Given the description of an element on the screen output the (x, y) to click on. 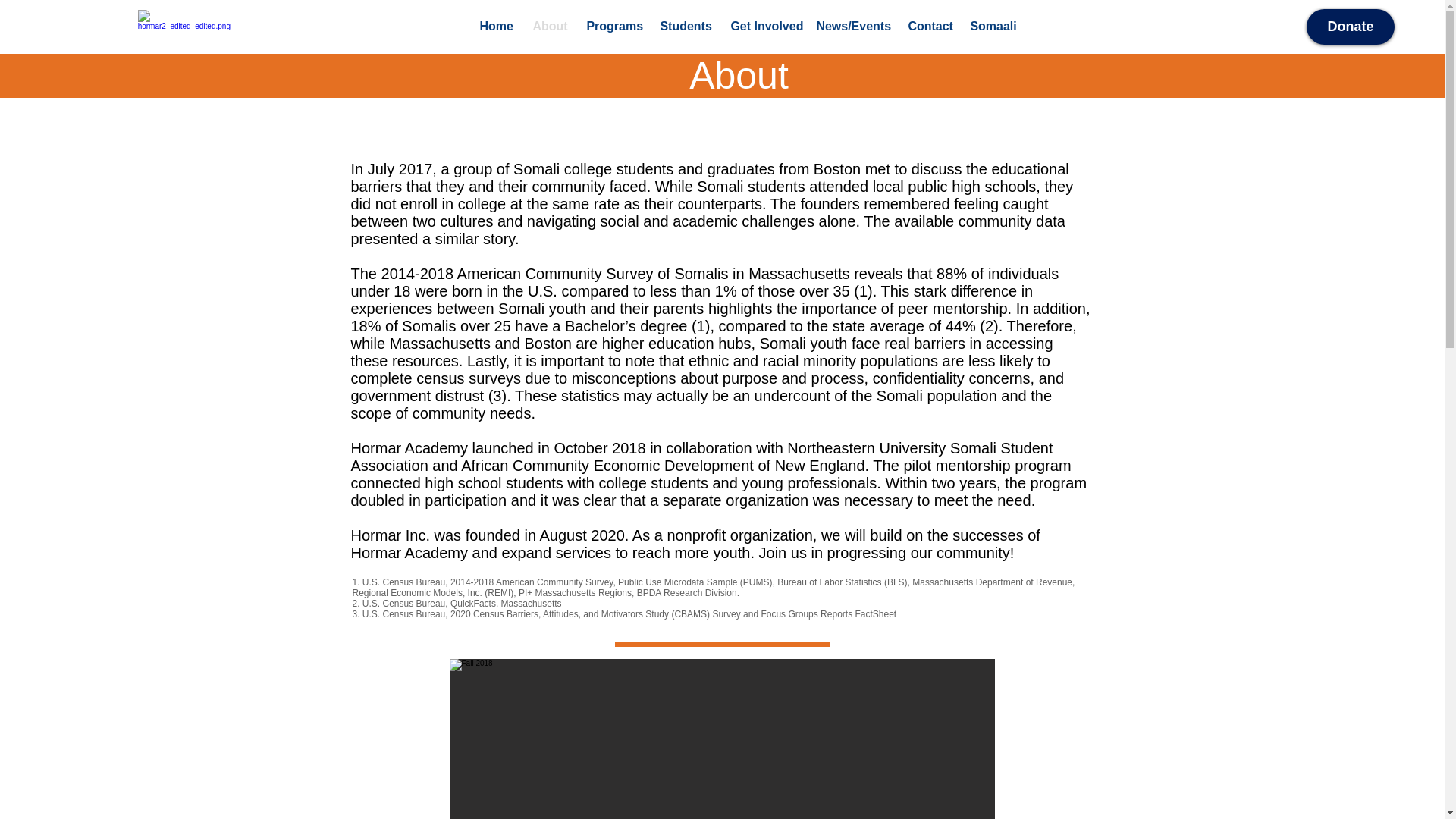
Get Involved (762, 26)
About (548, 26)
Somaali (990, 26)
Contact (927, 26)
Donate (1350, 27)
Home (494, 26)
Programs (611, 26)
Students (683, 26)
